Given the description of an element on the screen output the (x, y) to click on. 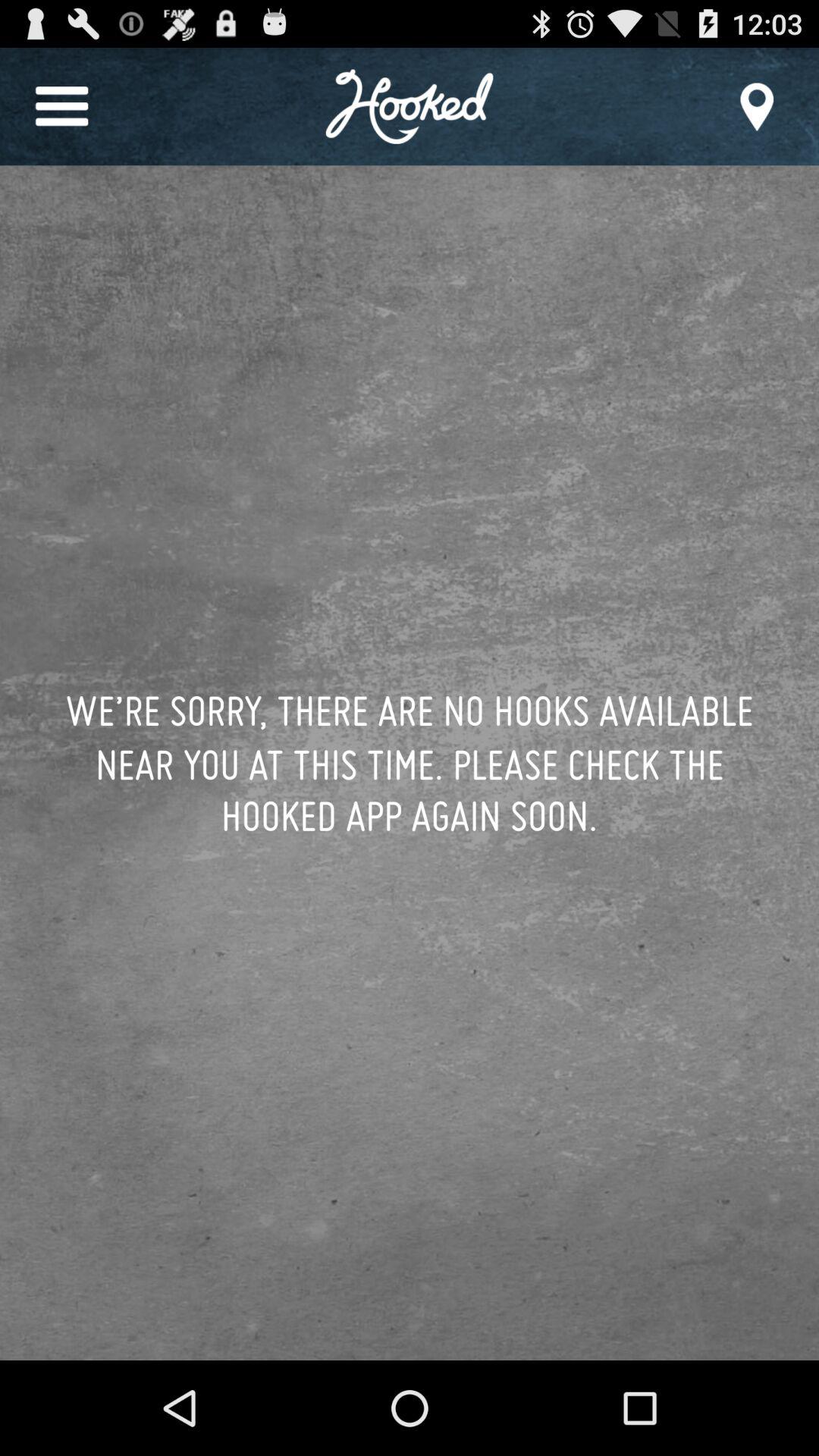
turn on the item at the top right corner (756, 106)
